Given the description of an element on the screen output the (x, y) to click on. 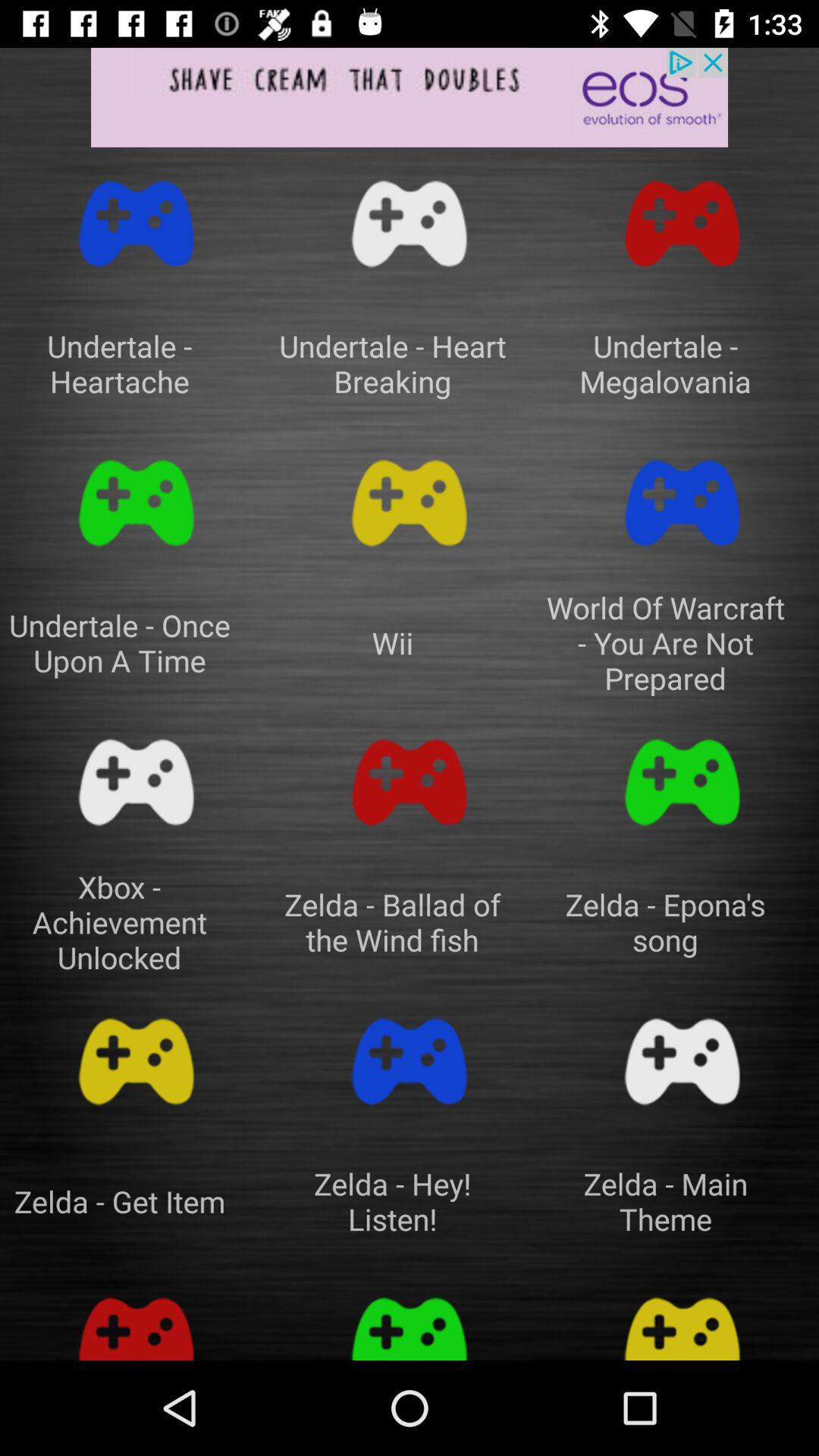
option to select the zelda ballad of the wind fish (409, 782)
